Given the description of an element on the screen output the (x, y) to click on. 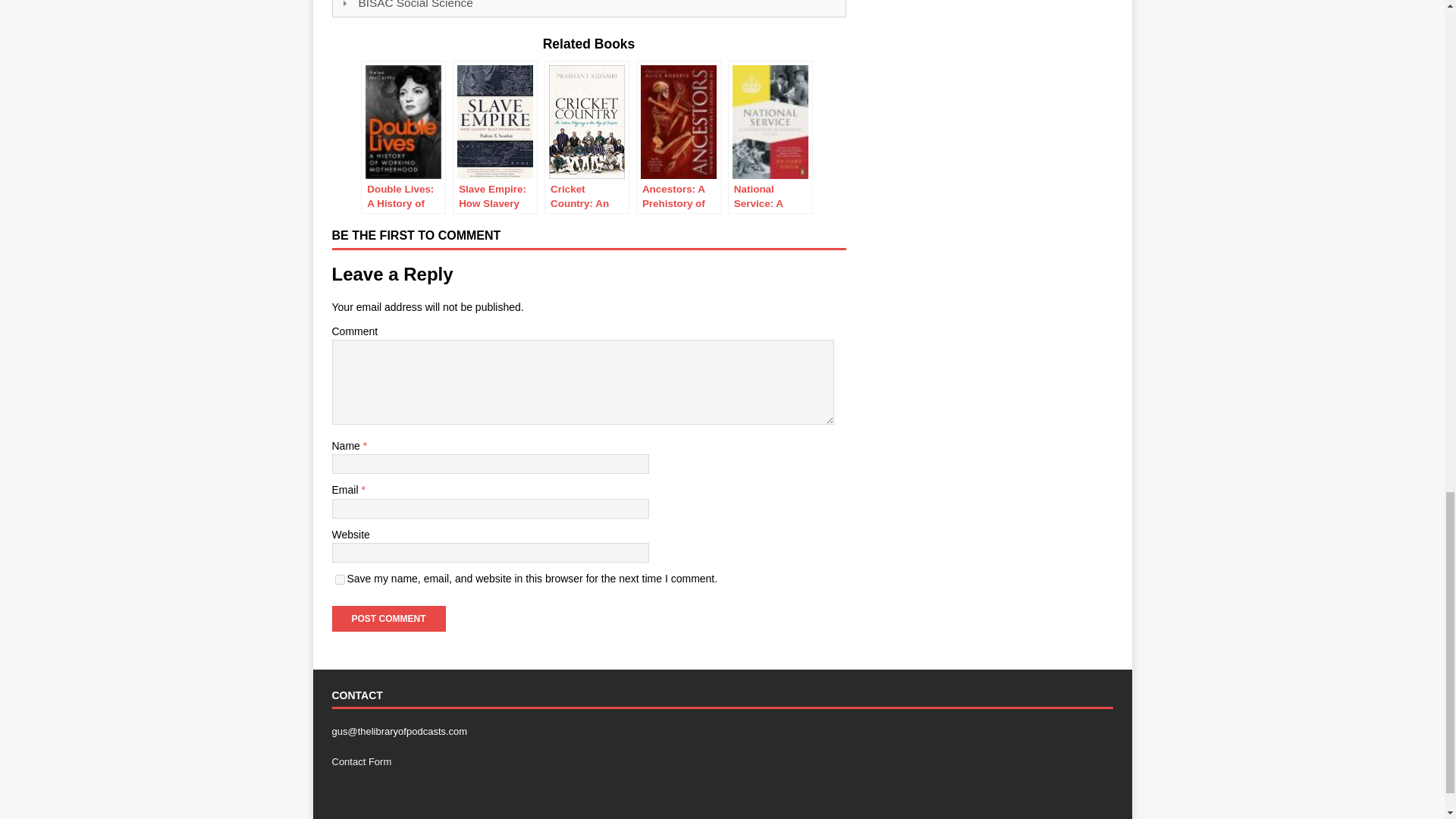
yes (339, 579)
Cricket Country: An Indian Odyssey in the Age of Empire (586, 136)
National Service: A Generation in Uniform 1945-1963 (770, 136)
Ancestors: A Prehistory of Britain in Seven Burials (678, 136)
Post Comment (388, 618)
Double Lives: A History of Working Motherhood (403, 136)
